Given the description of an element on the screen output the (x, y) to click on. 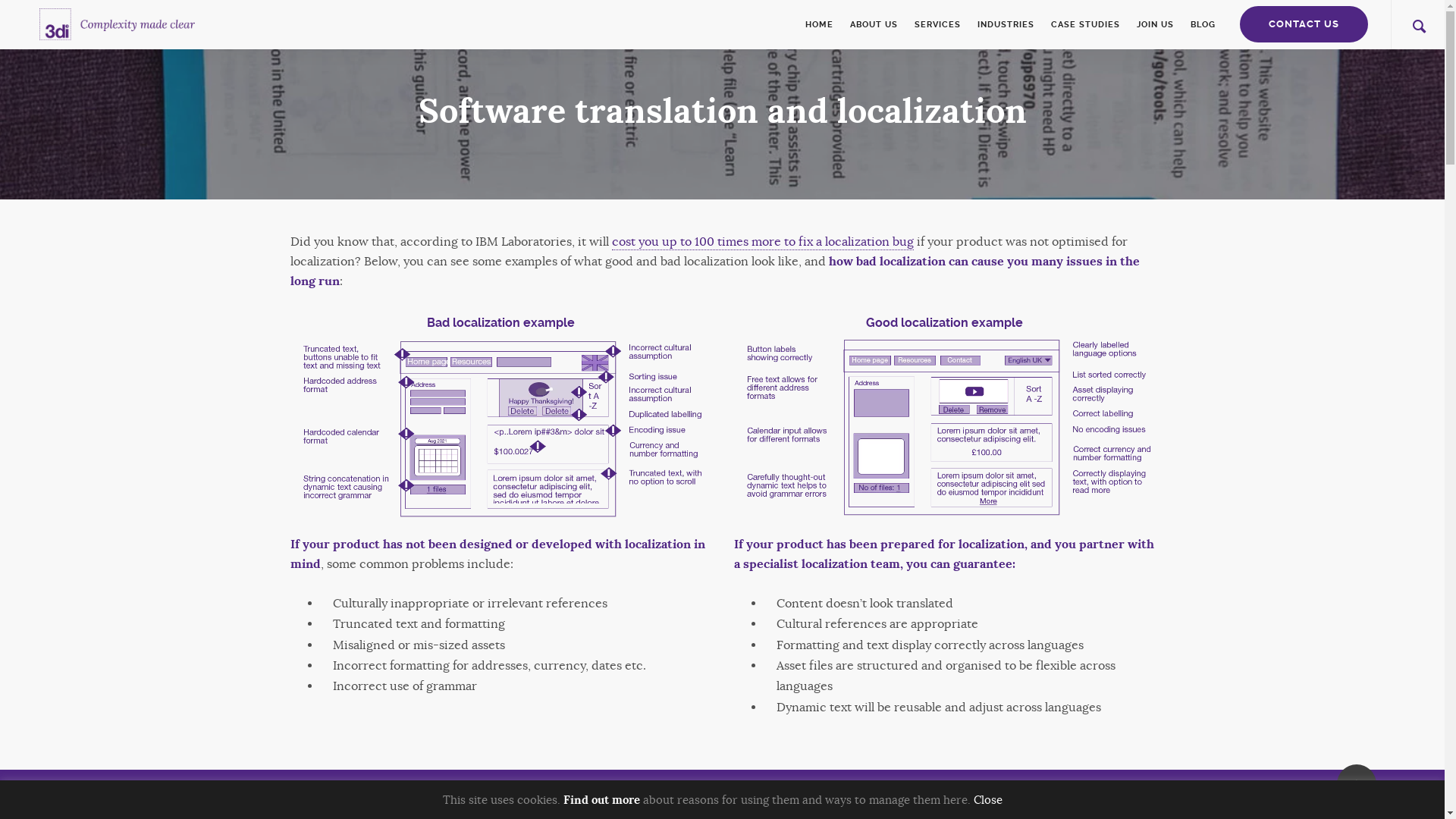
Search Element type: text (984, 409)
Find out more Element type: text (600, 799)
INDUSTRIES Element type: text (1005, 24)
CONTACT US Element type: text (1303, 24)
BLOG Element type: text (1198, 24)
ABOUT US Element type: text (873, 24)
HOME Element type: text (823, 24)
Close Element type: text (987, 799)
CASE STUDIES Element type: text (1085, 24)
cost you up to 100 times more to fix a localization bug Element type: text (762, 242)
JOIN US Element type: text (1155, 24)
SERVICES Element type: text (937, 24)
